Given the description of an element on the screen output the (x, y) to click on. 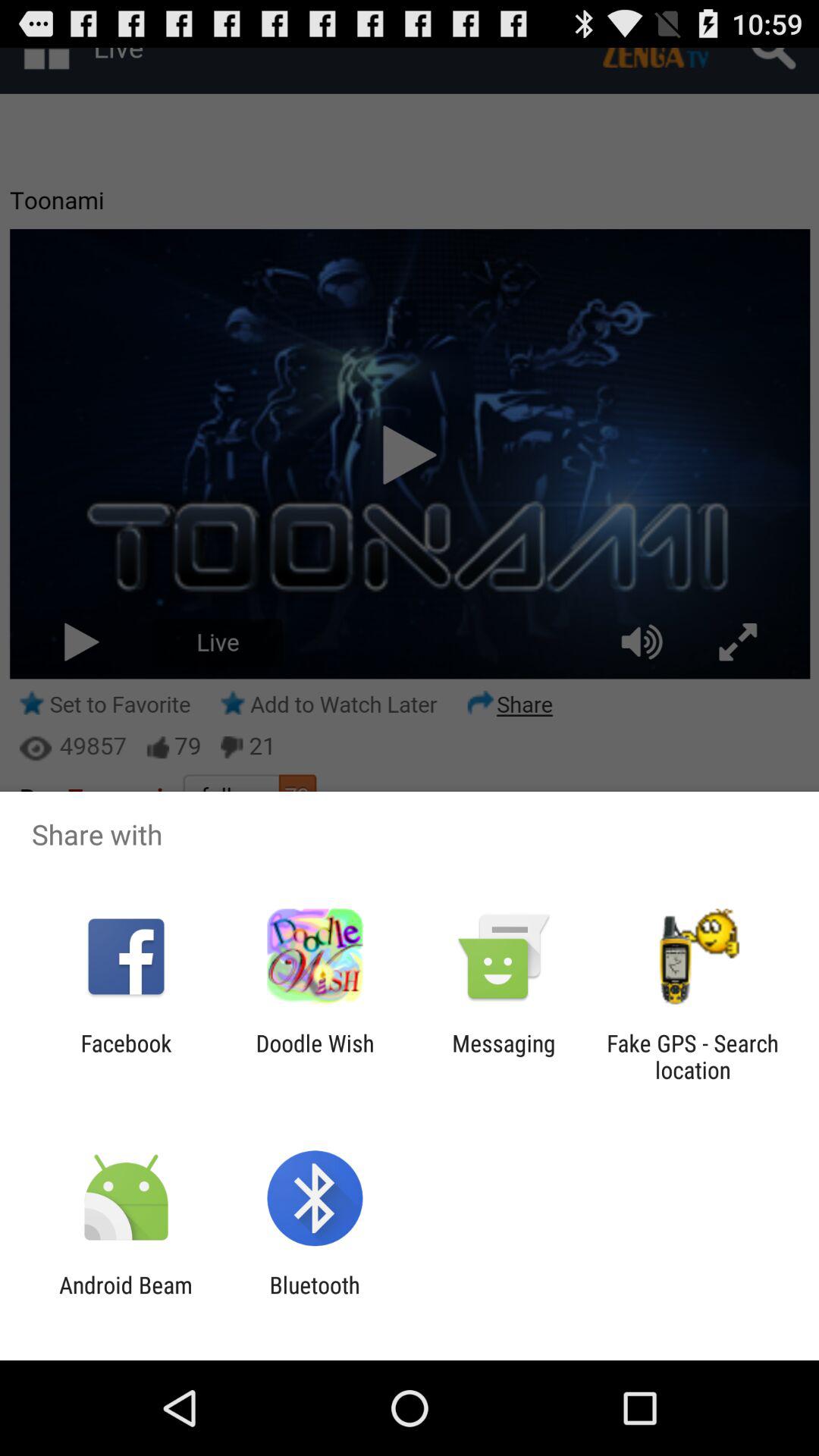
tap icon to the left of the messaging icon (314, 1056)
